Given the description of an element on the screen output the (x, y) to click on. 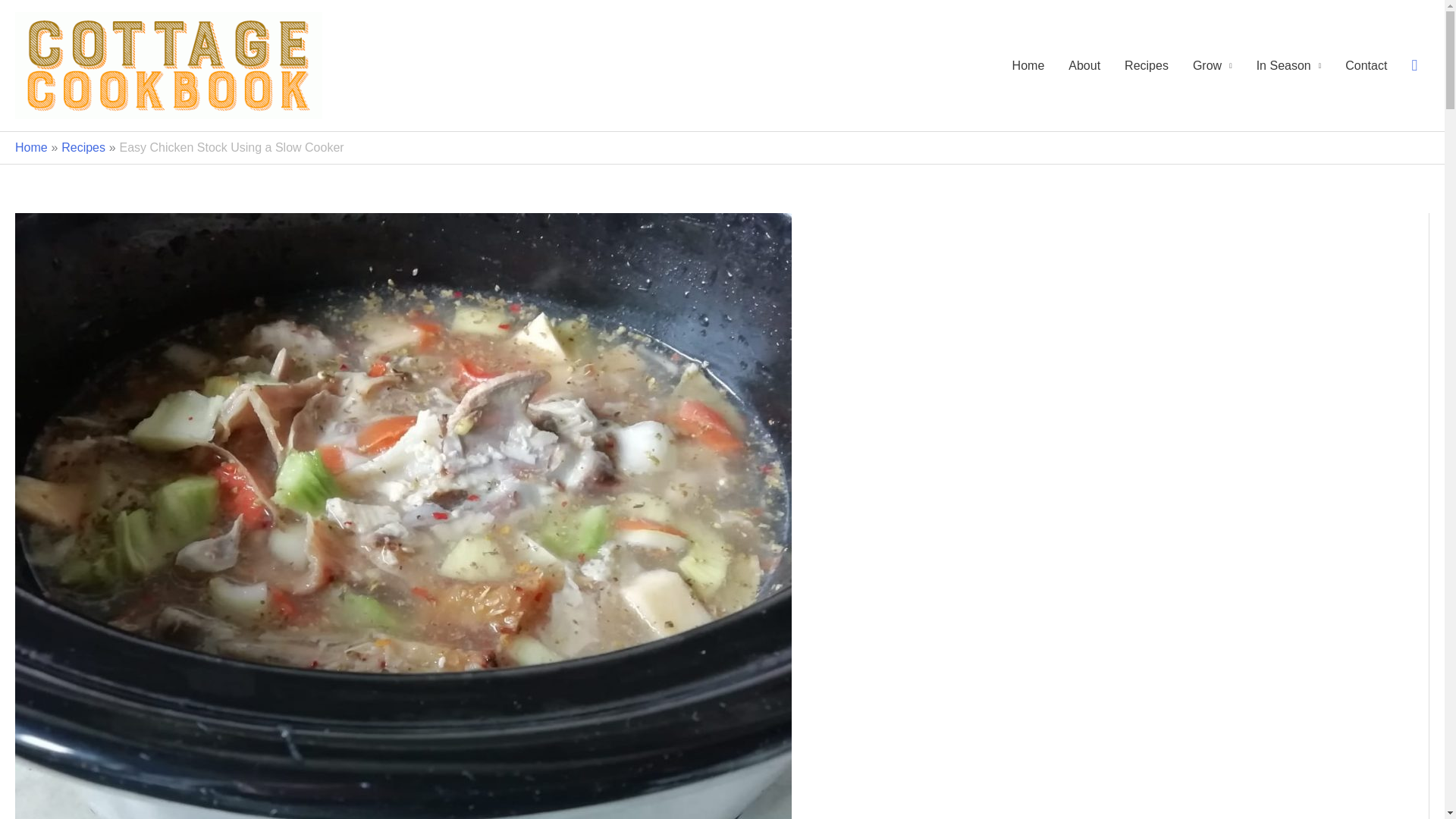
Home (31, 146)
Recipes (82, 146)
